Given the description of an element on the screen output the (x, y) to click on. 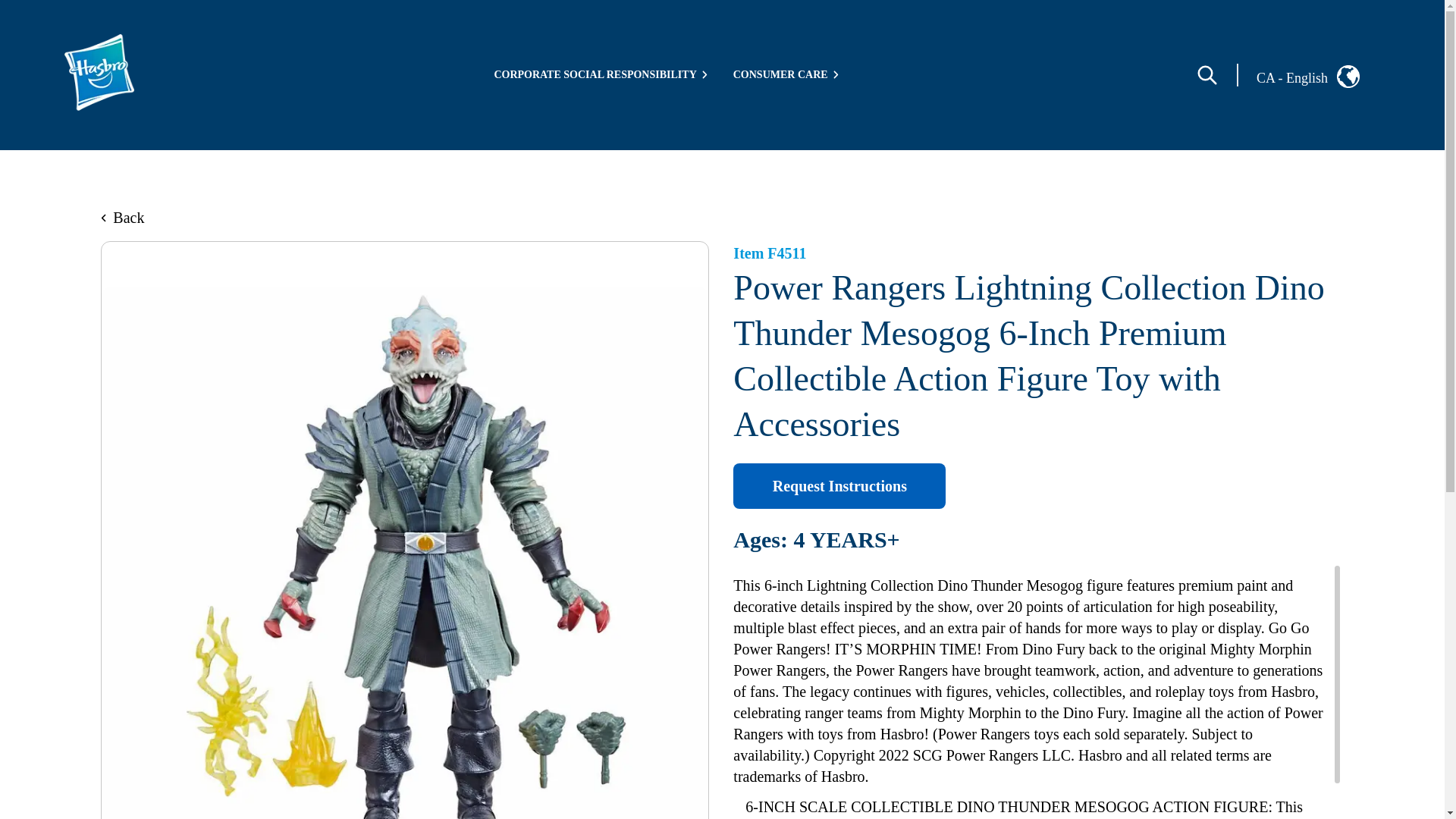
CA - English (1320, 74)
Request Instructions (838, 485)
